Given the description of an element on the screen output the (x, y) to click on. 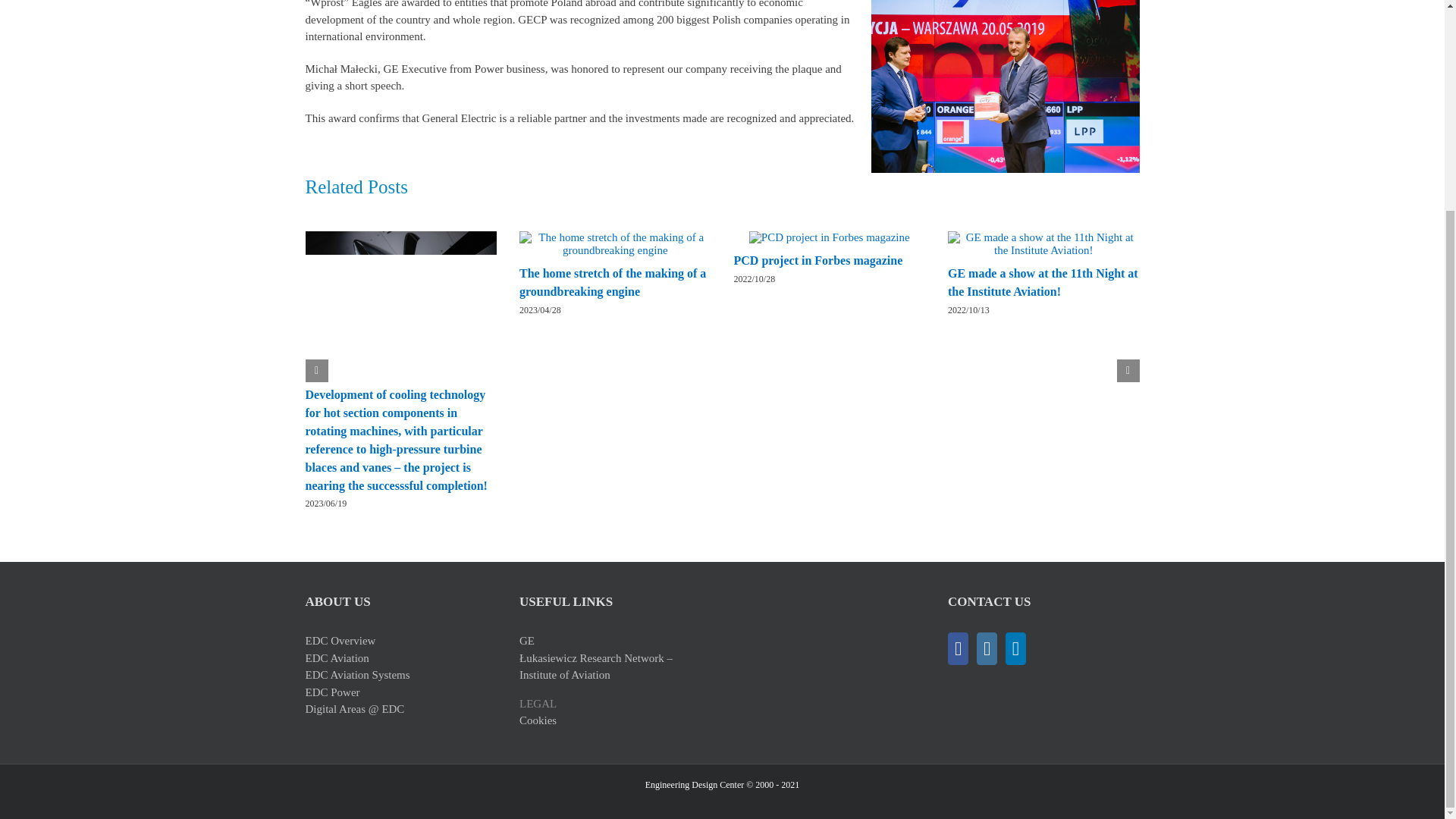
PCD project in Forbes magazine (817, 259)
The home stretch of the making of a groundbreaking engine (612, 282)
GE made a show at the 11th Night at the Institute Aviation! (1042, 282)
